Given the description of an element on the screen output the (x, y) to click on. 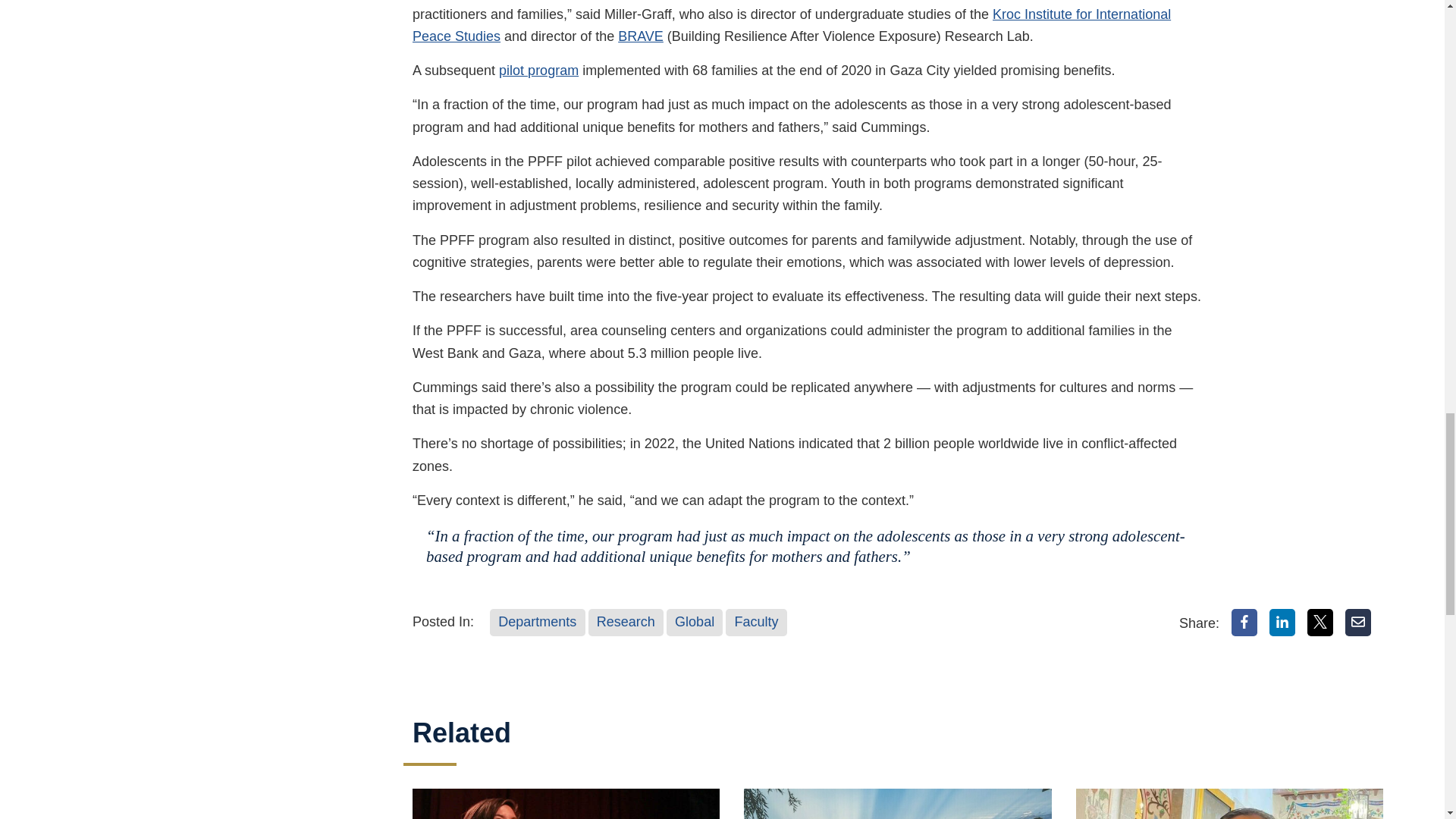
LinkedIn (1282, 622)
Facebook (1244, 622)
Email (1358, 622)
